Given the description of an element on the screen output the (x, y) to click on. 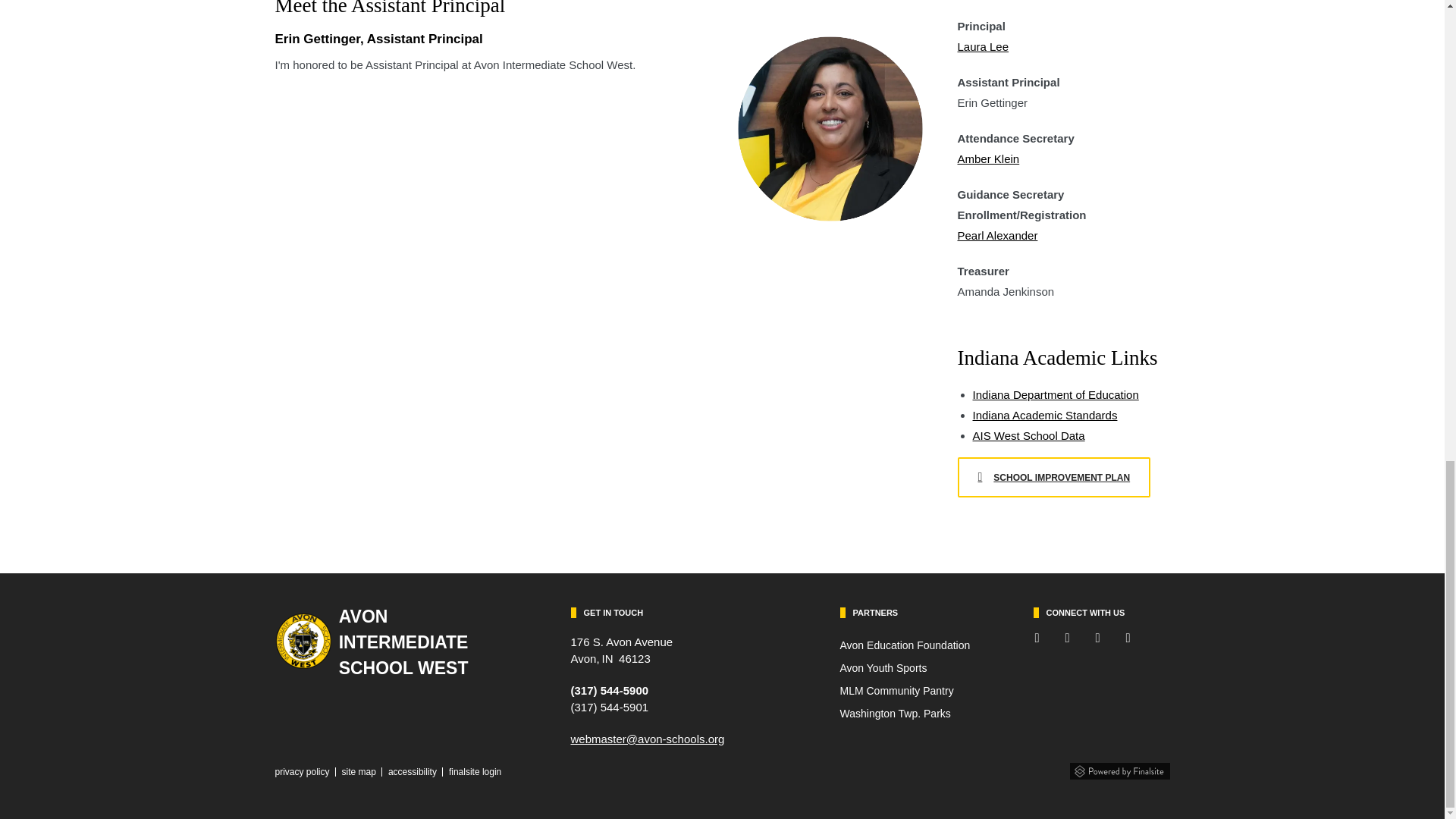
AISW 21 22 School Improvement Plan  (1053, 476)
Powered by Finalsite opens in a new window (1118, 767)
Email (646, 738)
